Given the description of an element on the screen output the (x, y) to click on. 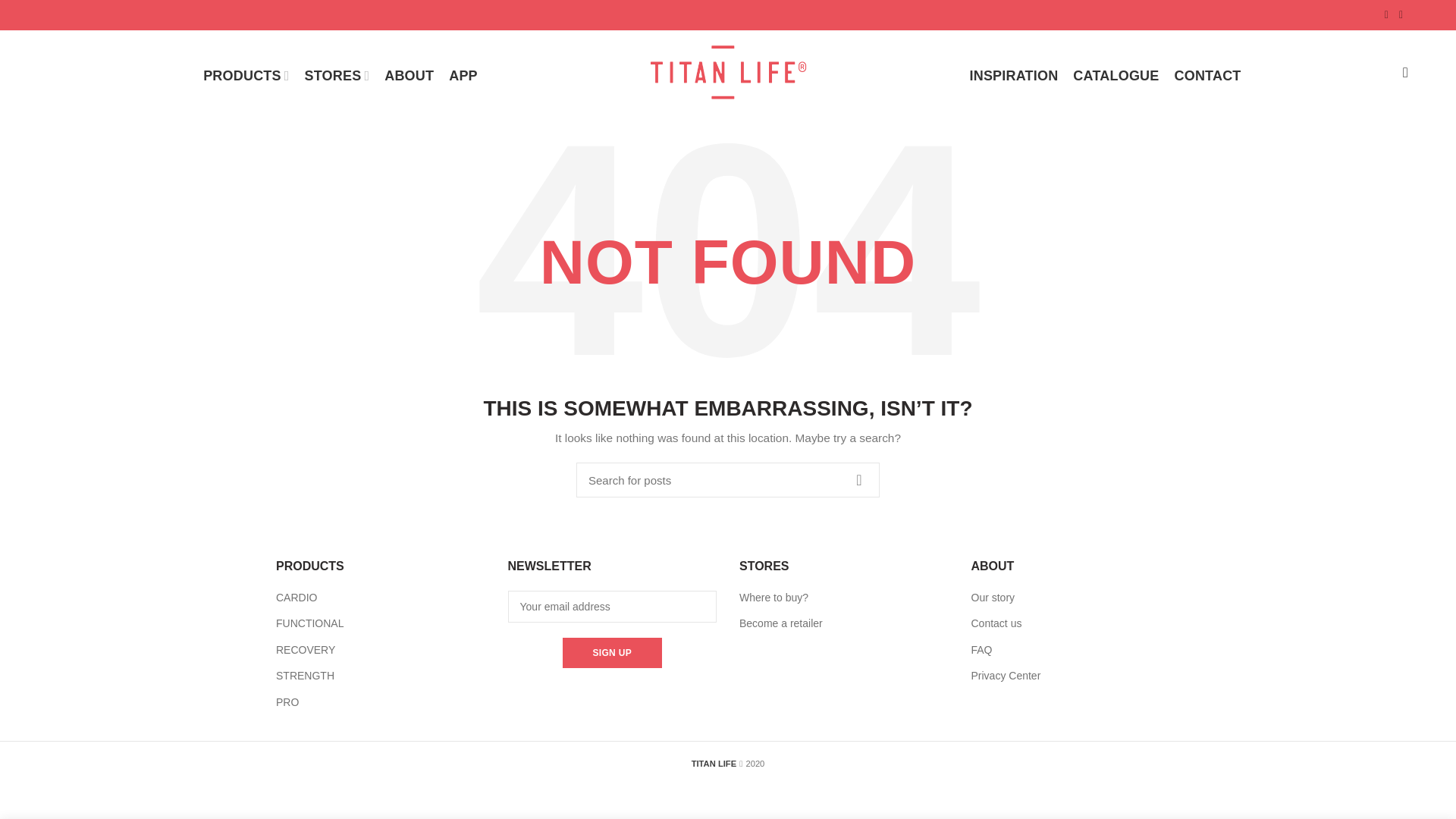
ABOUT (409, 75)
INSPIRATION (1012, 75)
Become a retailer (780, 623)
Sign up (612, 653)
STRENGTH (305, 675)
STORES (337, 75)
FAQ (981, 649)
Sign up (612, 653)
Privacy Center (1006, 675)
Where to buy? (773, 597)
Our story (992, 597)
APP (462, 75)
Contact us (996, 623)
PRODUCTS (246, 75)
CATALOGUE (1115, 75)
